Given the description of an element on the screen output the (x, y) to click on. 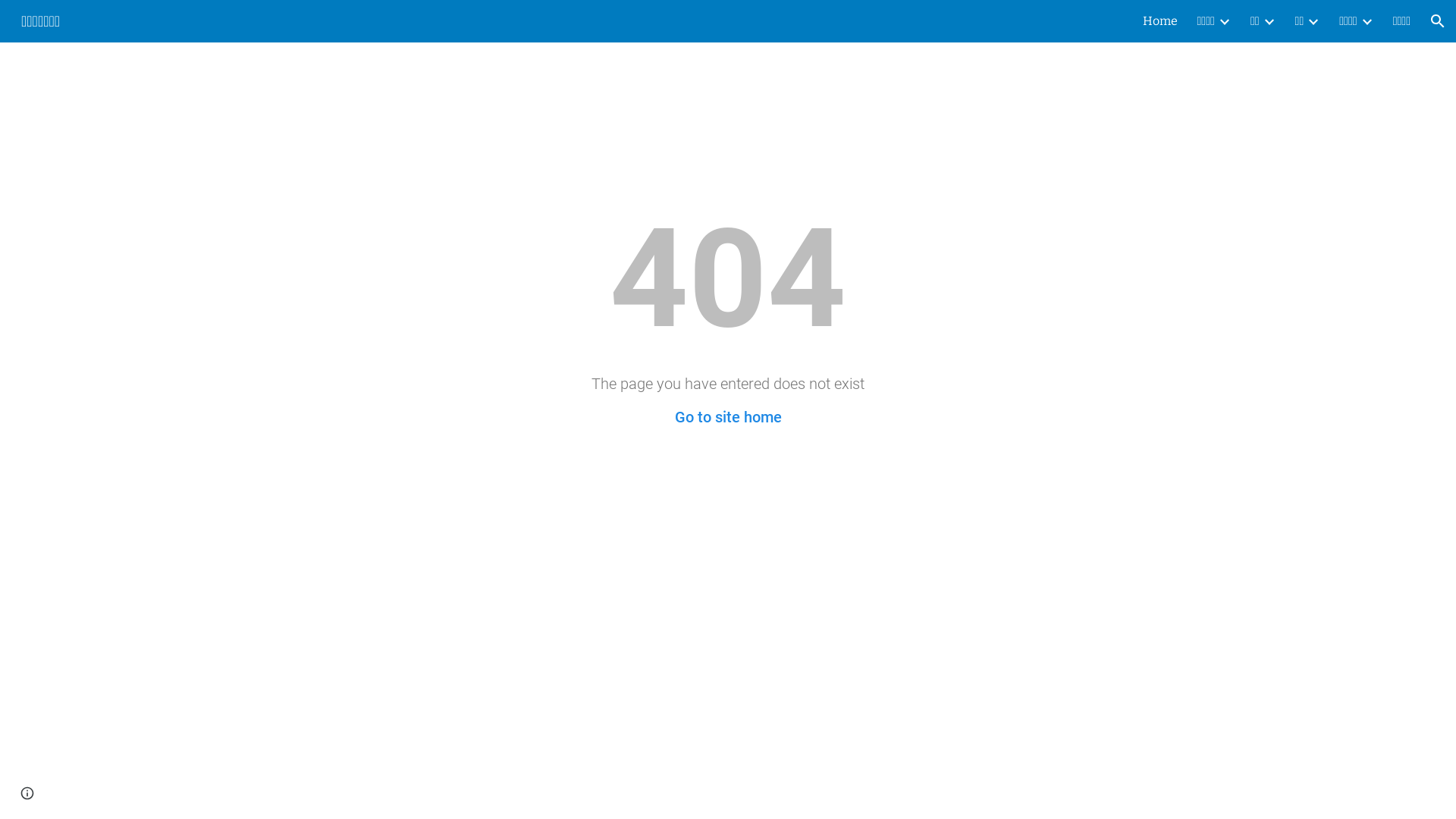
Expand/Collapse Element type: hover (1366, 20)
Go to site home Element type: text (727, 416)
Expand/Collapse Element type: hover (1268, 20)
Expand/Collapse Element type: hover (1223, 20)
Home Element type: text (1159, 20)
Expand/Collapse Element type: hover (1312, 20)
